Given the description of an element on the screen output the (x, y) to click on. 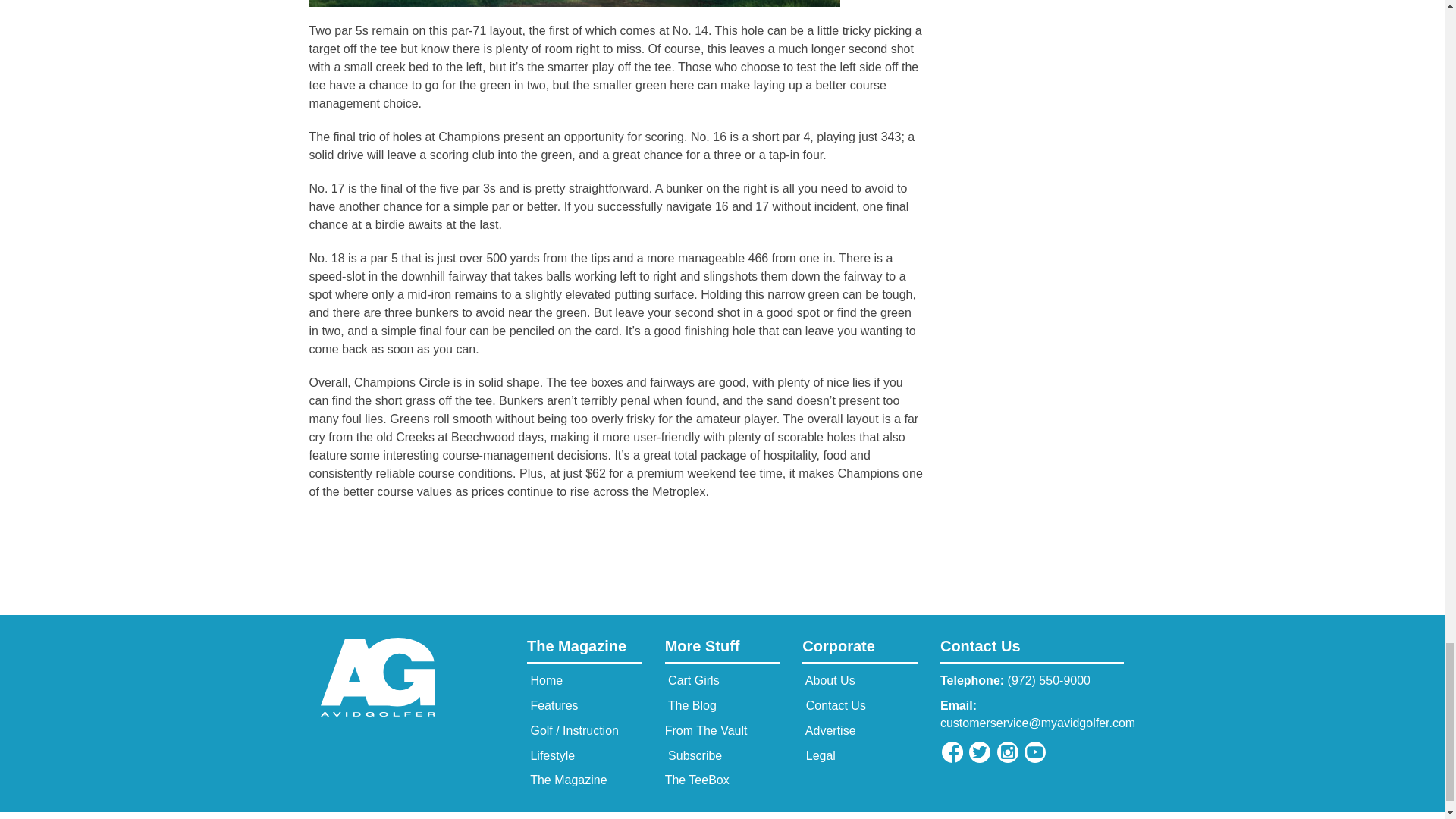
 Features (552, 705)
 Lifestyle (551, 755)
The Magazine (584, 651)
 Home (544, 680)
 The Magazine (567, 779)
 The Blog (690, 705)
 Cart Girls (692, 680)
